Given the description of an element on the screen output the (x, y) to click on. 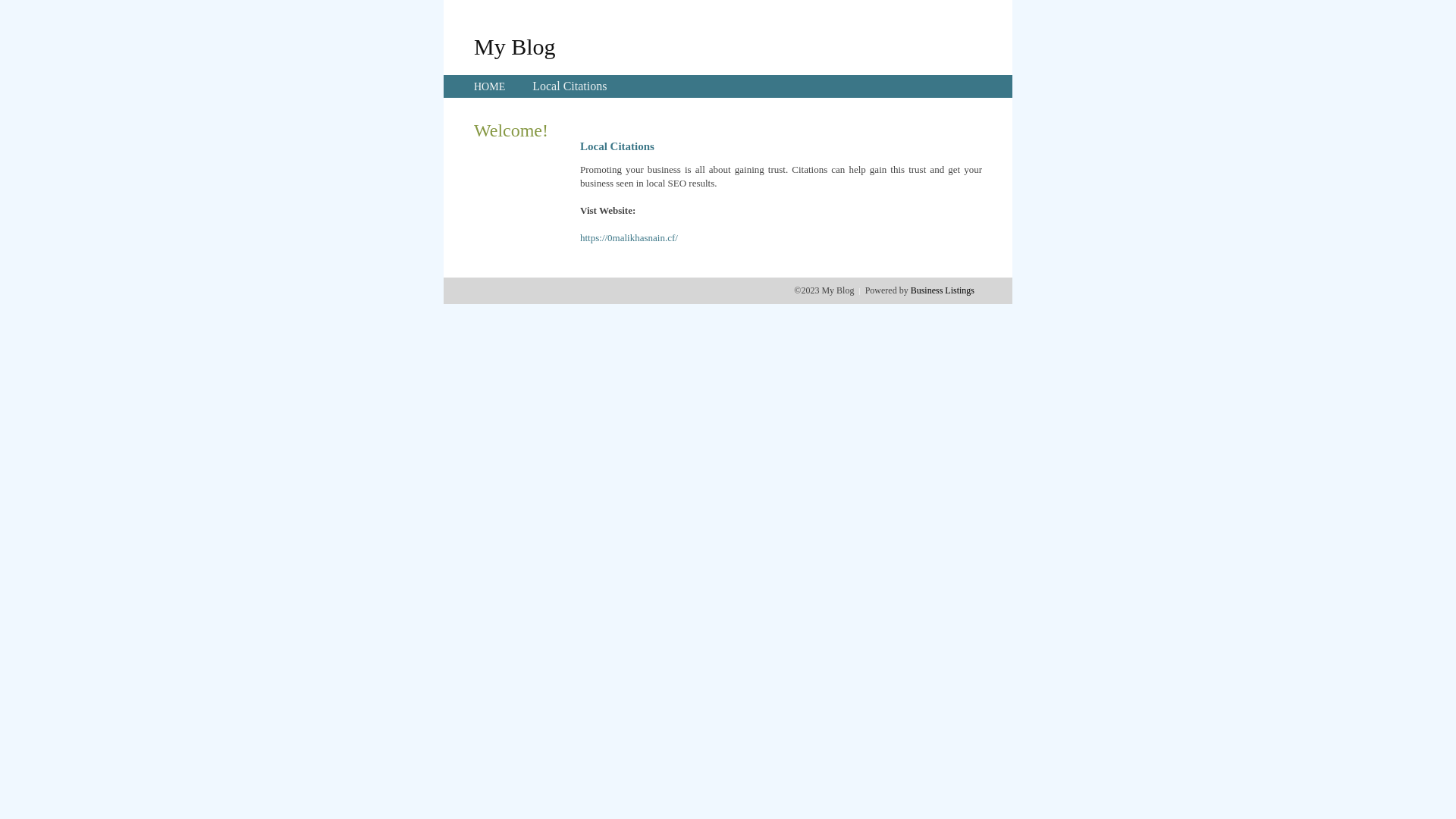
Local Citations Element type: text (569, 85)
Business Listings Element type: text (942, 290)
My Blog Element type: text (514, 46)
HOME Element type: text (489, 86)
https://0malikhasnain.cf/ Element type: text (628, 237)
